Given the description of an element on the screen output the (x, y) to click on. 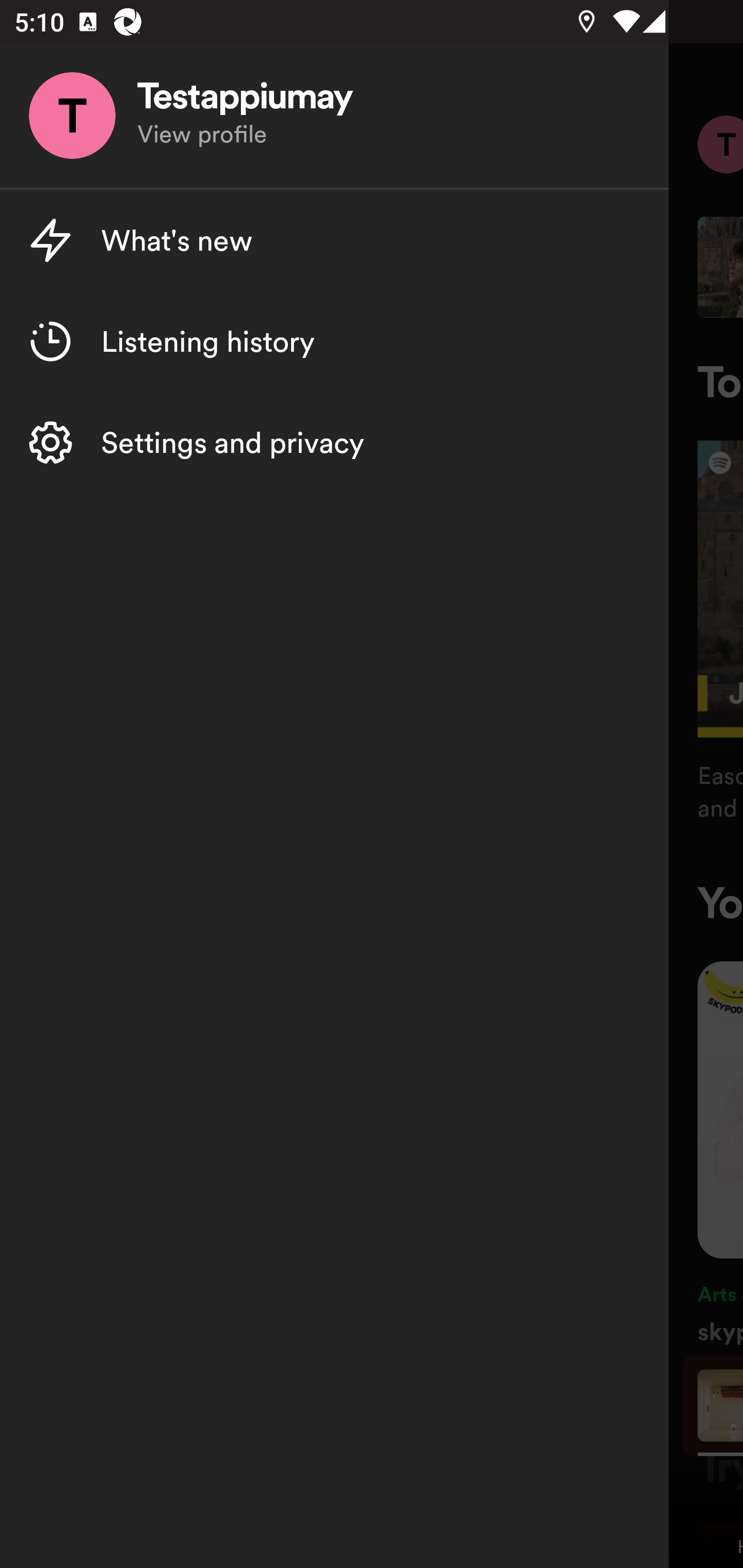
Profile Testappiumay View profile (334, 115)
What's new (334, 240)
Listening history (334, 341)
Settings and privacy (334, 442)
